Given the description of an element on the screen output the (x, y) to click on. 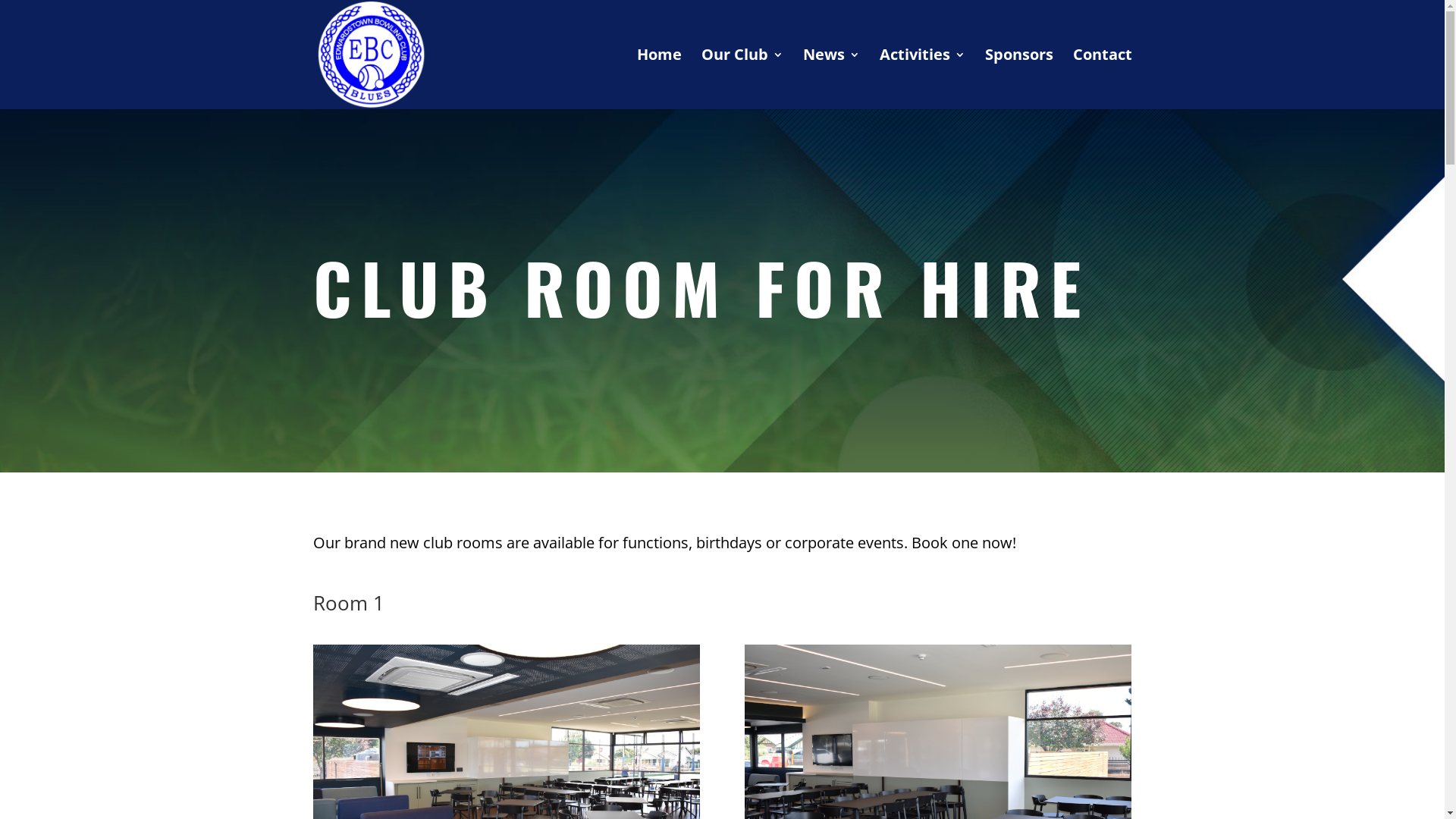
Home Element type: text (659, 79)
Edwardstown Bowling Club Element type: hover (370, 54)
News Element type: text (830, 79)
Sponsors Element type: text (1018, 79)
Activities Element type: text (922, 79)
Our Club Element type: text (741, 79)
Contact Element type: text (1101, 79)
